Given the description of an element on the screen output the (x, y) to click on. 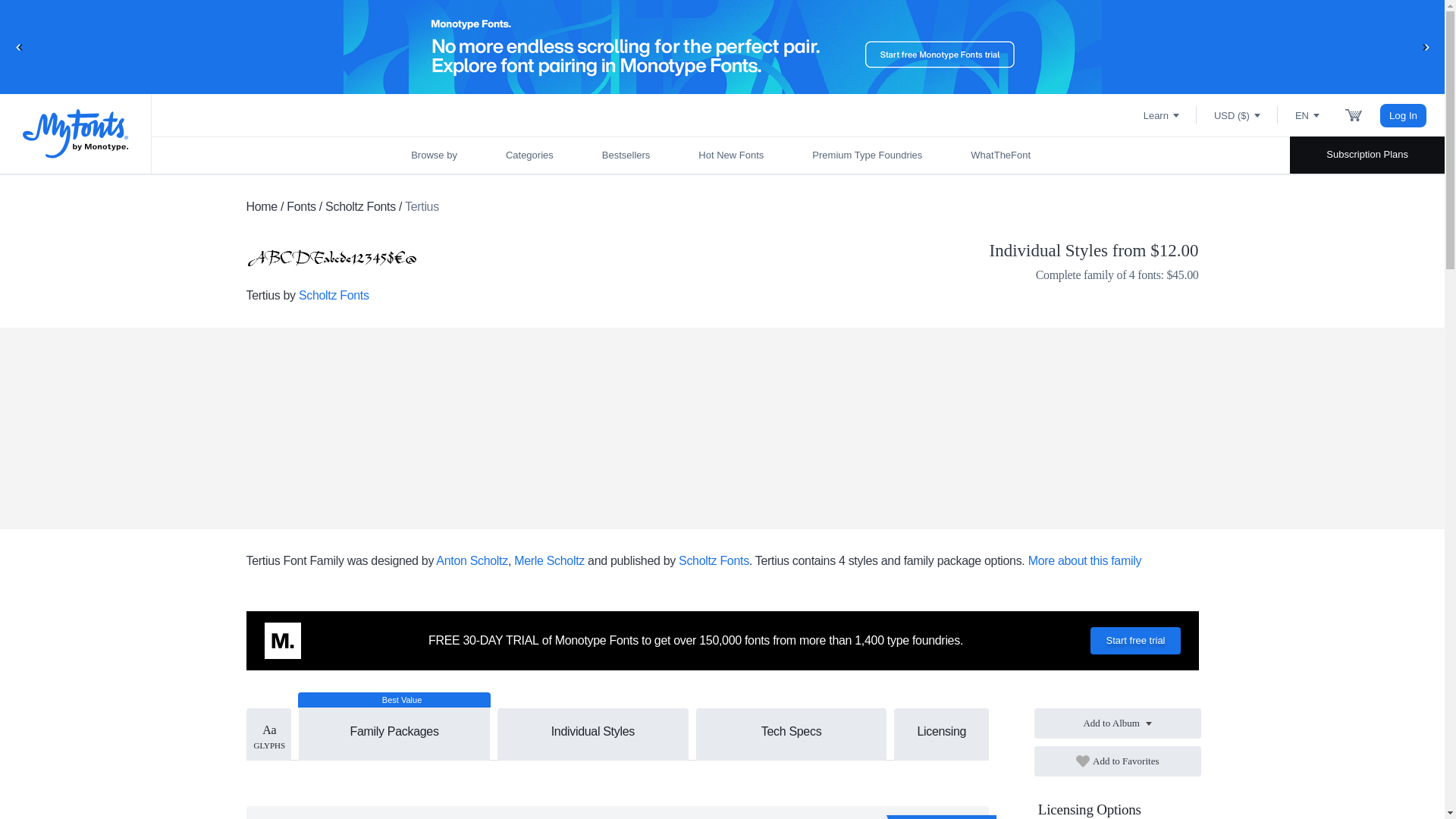
Licensing (940, 730)
Individual Styles (592, 730)
Log In (1403, 114)
Skip to content (72, 27)
Tech Specs (790, 730)
MyFonts (75, 133)
Family Packages (393, 722)
